Given the description of an element on the screen output the (x, y) to click on. 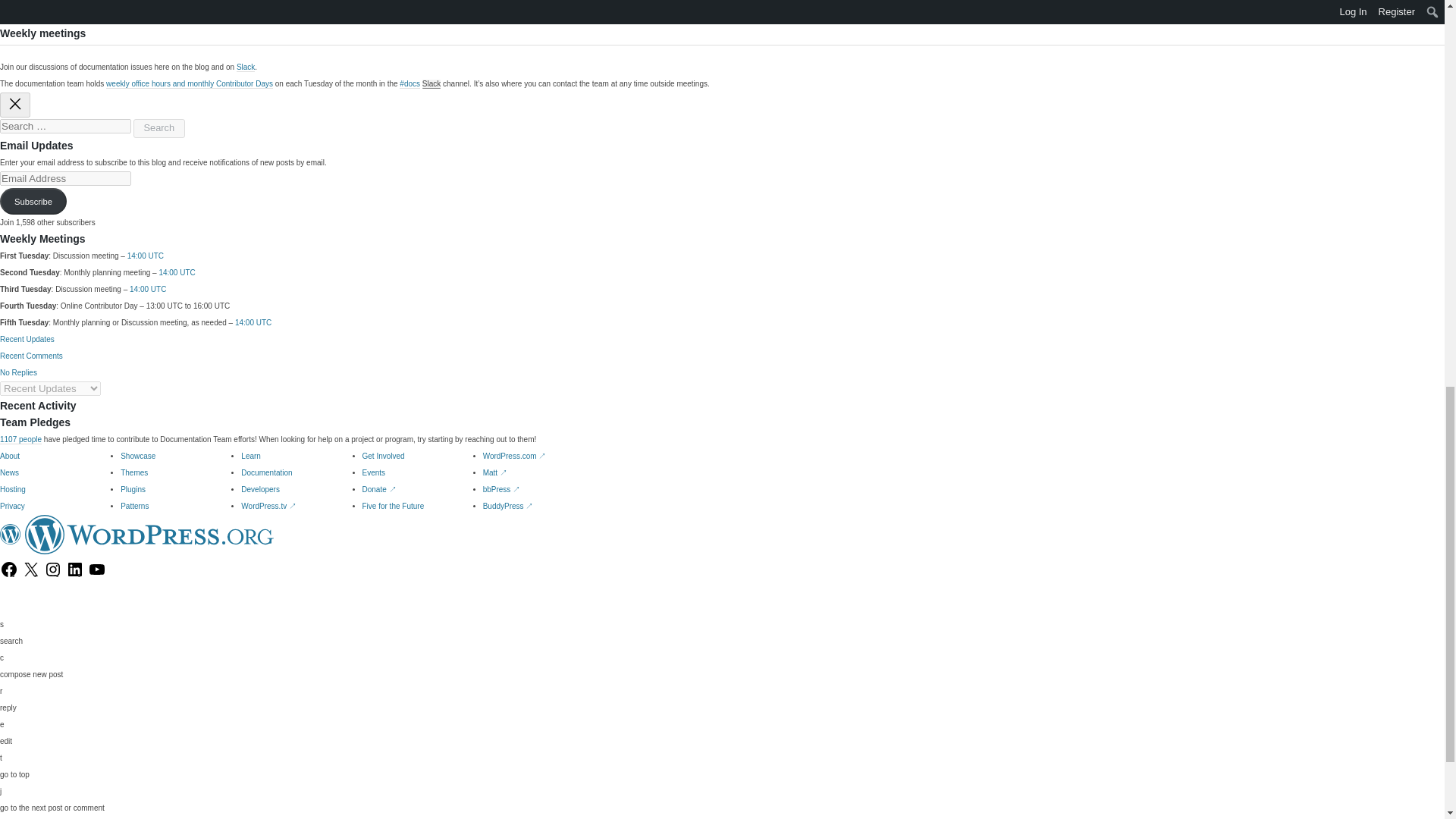
WordPress.org (10, 534)
Search (158, 128)
WordPress.org (149, 534)
